Given the description of an element on the screen output the (x, y) to click on. 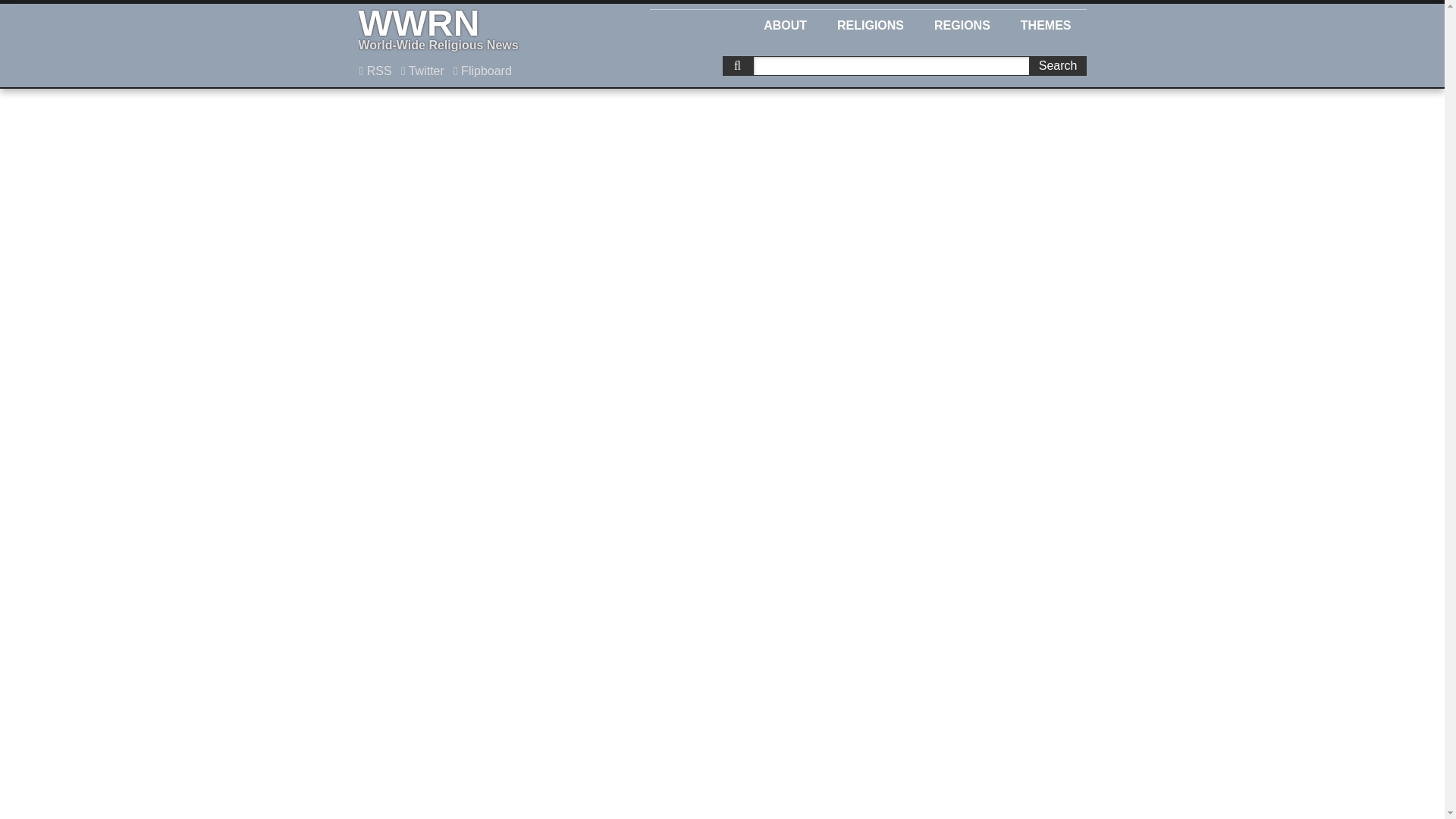
REGIONS (485, 31)
ABOUT (962, 23)
THEMES (785, 23)
Flipboard (1046, 23)
RSS (482, 70)
RELIGIONS (374, 70)
Twitter (870, 23)
Search (422, 70)
